Given the description of an element on the screen output the (x, y) to click on. 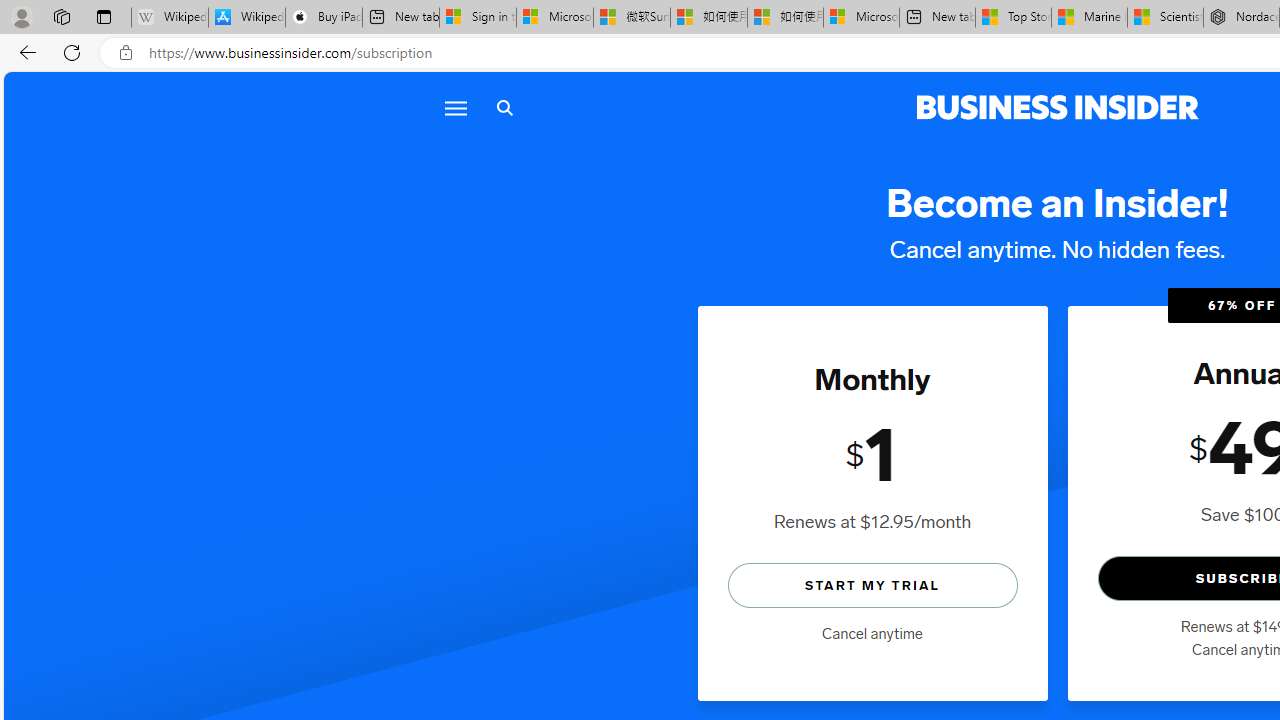
Microsoft Services Agreement (554, 17)
Sign in to your Microsoft account (477, 17)
Cancel anytime (872, 633)
Microsoft account | Account Checkup (861, 17)
Business Insider logo (1057, 107)
Buy iPad - Apple (323, 17)
Business Insider logo (1057, 107)
Go to the search page. (504, 107)
Search icon (504, 107)
Wikipedia - Sleeping (169, 17)
Menu (454, 107)
Top Stories - MSN (1012, 17)
Marine life - MSN (1089, 17)
